Given the description of an element on the screen output the (x, y) to click on. 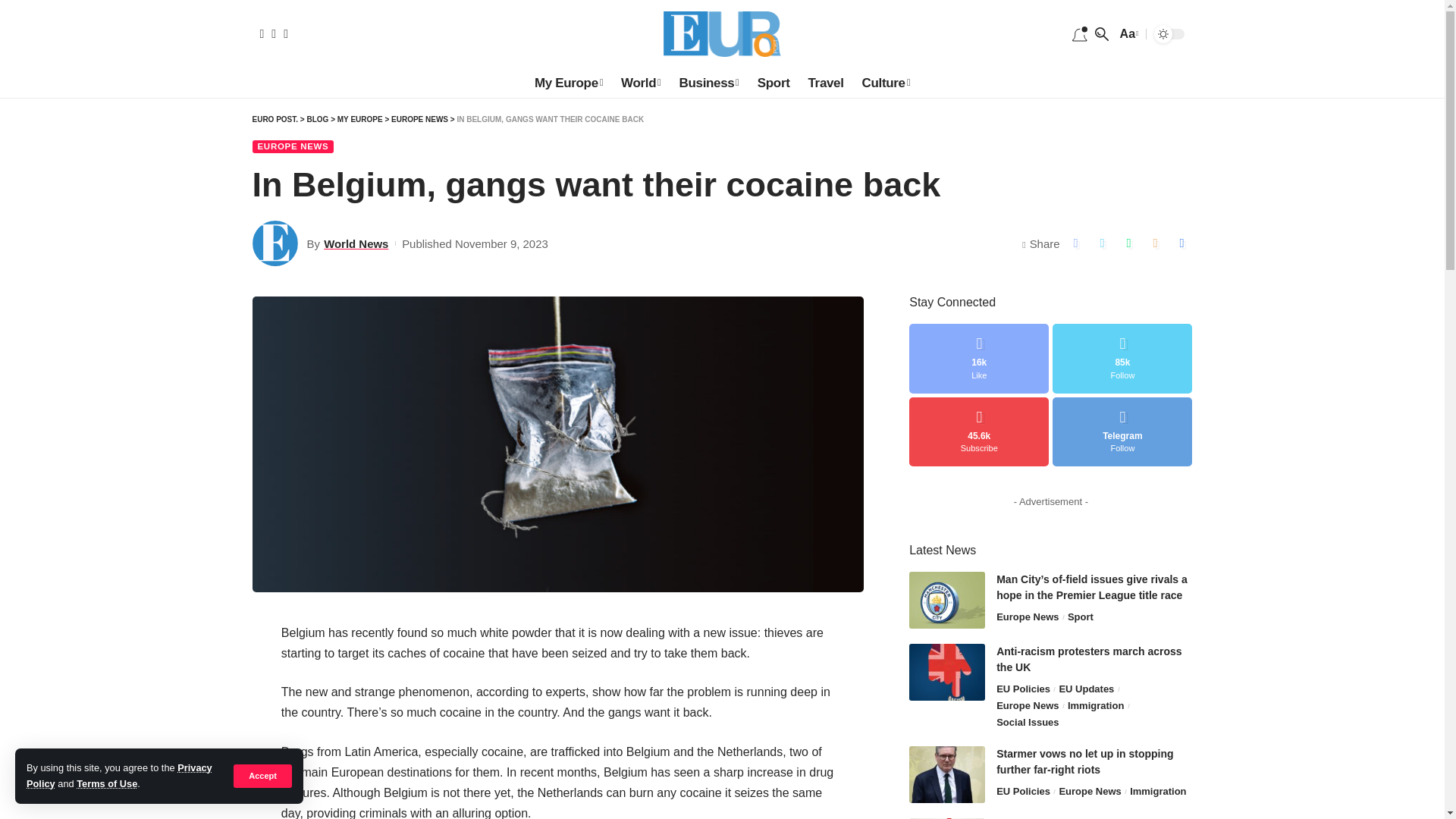
Travel (826, 82)
Go to the Europe News Category archives. (419, 119)
Business (708, 82)
World (640, 82)
Aa (1127, 33)
Privacy Policy (119, 775)
Go to Euro Post.. (274, 119)
Starmer vows no let up in stopping further far-right riots (946, 774)
Euro Post. (721, 33)
My Europe (568, 82)
